Given the description of an element on the screen output the (x, y) to click on. 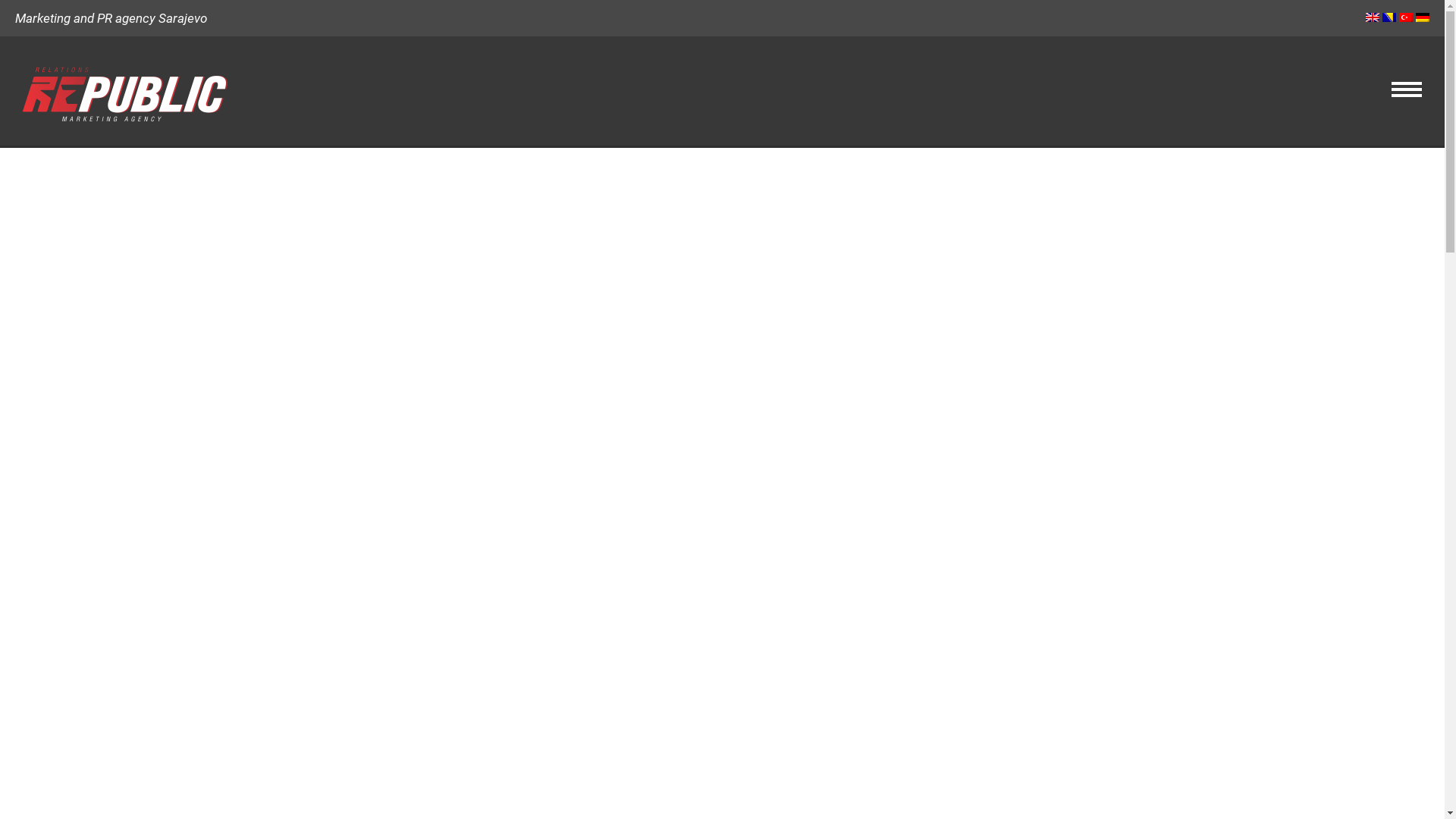
Hamburger Menu Controller Element type: hover (1406, 90)
